Given the description of an element on the screen output the (x, y) to click on. 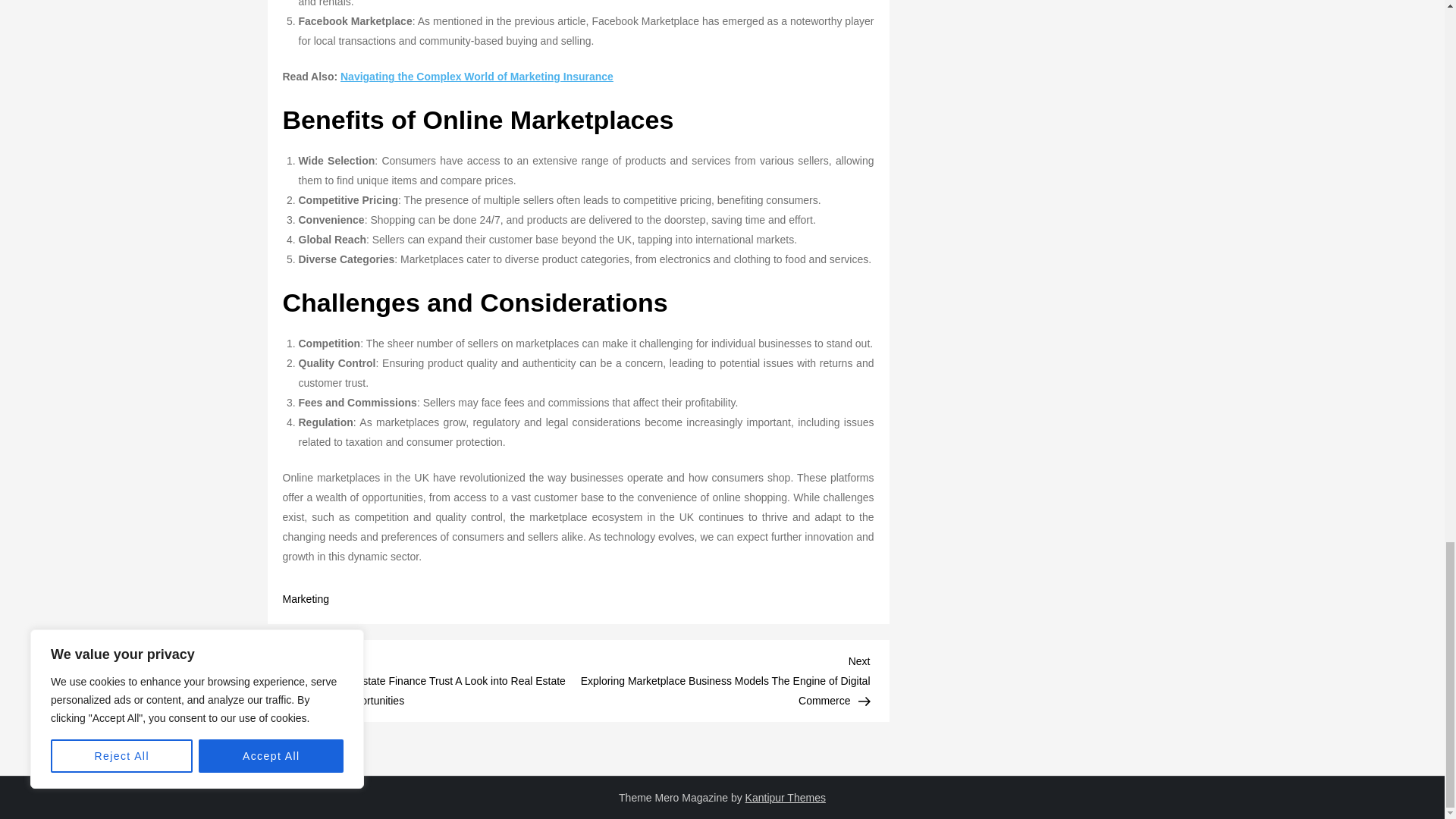
Marketing (305, 599)
Kantipur Themes (785, 797)
Navigating the Complex World of Marketing Insurance (476, 76)
